Given the description of an element on the screen output the (x, y) to click on. 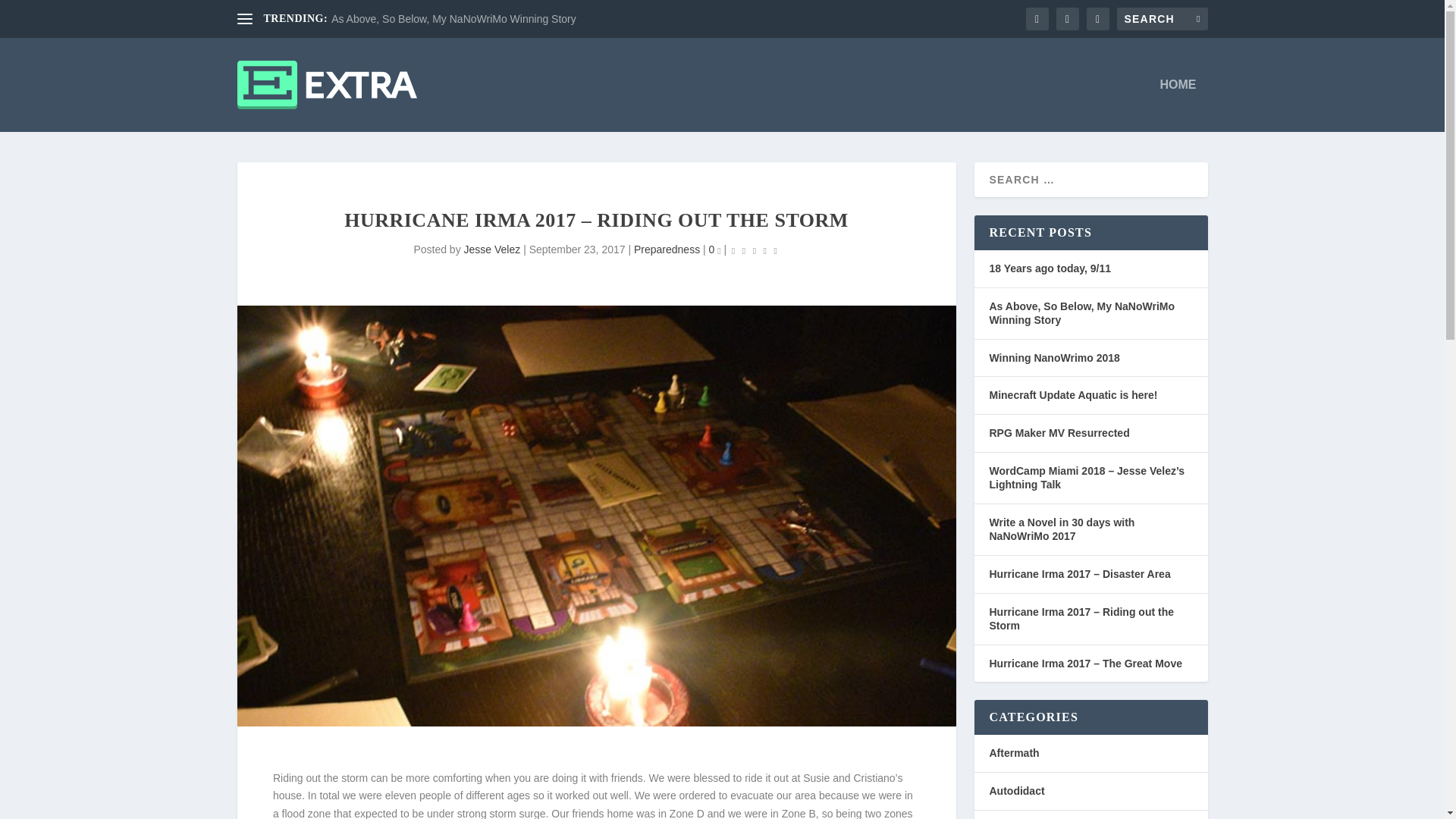
0 (714, 249)
Posts by Jesse Velez (492, 249)
Search for: (1161, 18)
Jesse Velez (492, 249)
As Above, So Below, My NaNoWriMo Winning Story (453, 19)
Preparedness (666, 249)
Rating: 0.00 (753, 250)
